Given the description of an element on the screen output the (x, y) to click on. 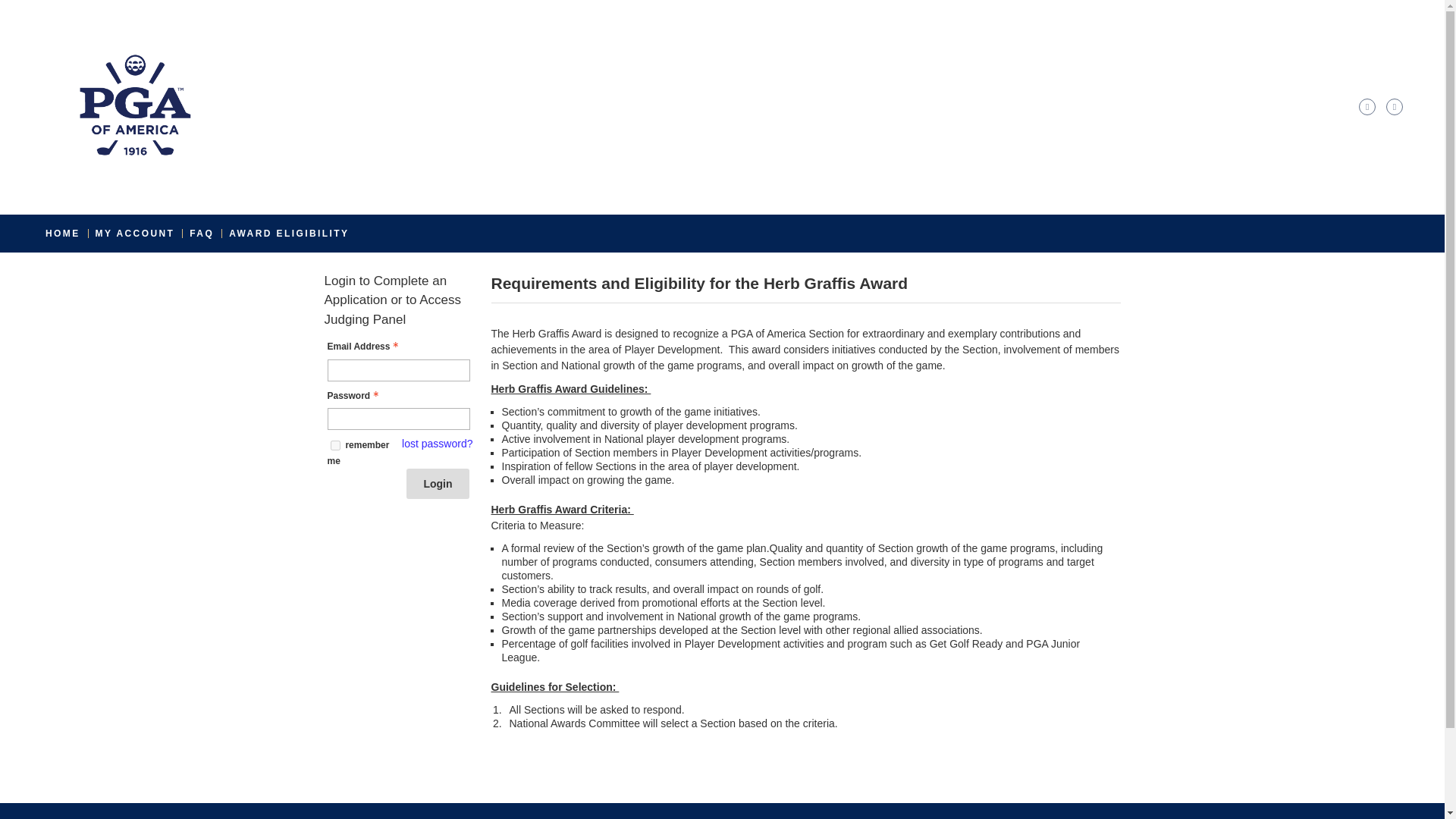
Bill Strausbaugh Award (311, 270)
HOME (62, 233)
MY ACCOUNT (135, 233)
lost password? (436, 443)
AWARD ELIGIBILITY (288, 233)
Login (437, 483)
true (335, 445)
FAQ (201, 233)
